Given the description of an element on the screen output the (x, y) to click on. 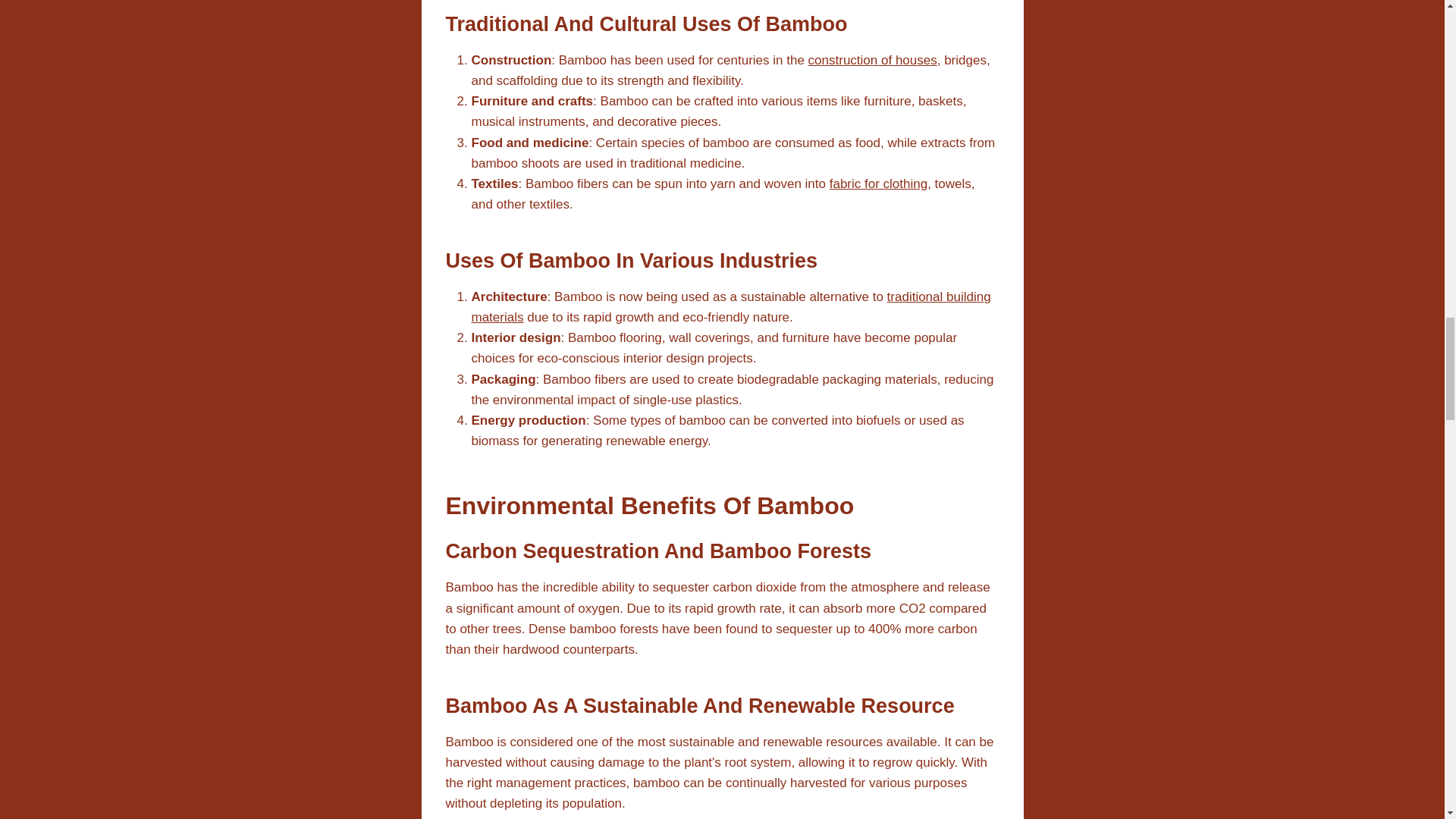
fabric for clothing (878, 183)
construction of houses (872, 60)
traditional building materials (731, 306)
